Given the description of an element on the screen output the (x, y) to click on. 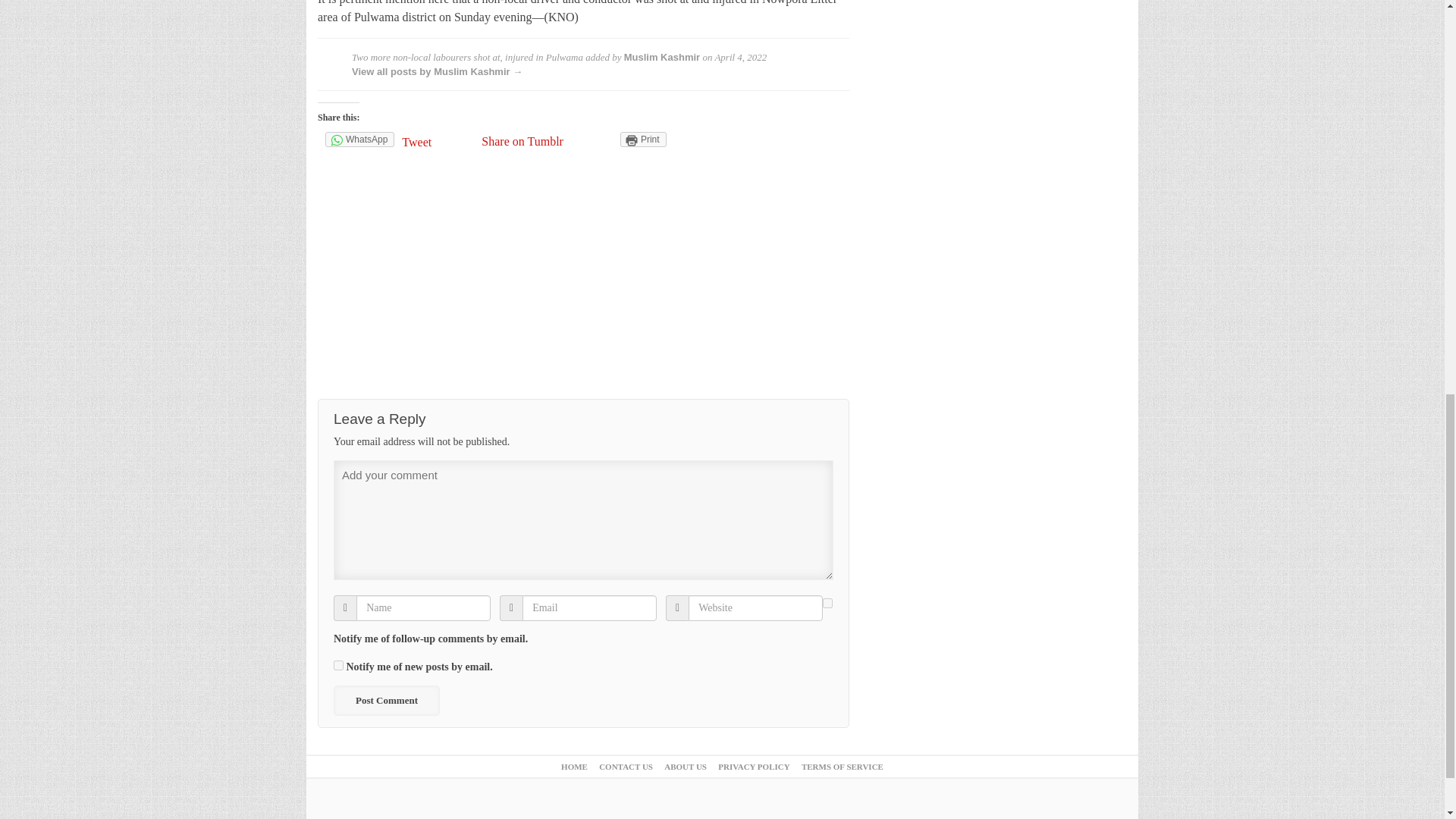
Tweet (437, 141)
ABOUT US (684, 766)
TERMS OF SERVICE (842, 766)
CONTACT US (625, 766)
Share on Tumblr (522, 141)
HOME (574, 766)
Click to print (643, 139)
Print (643, 139)
Post Comment (386, 700)
subscribe (827, 603)
